Given the description of an element on the screen output the (x, y) to click on. 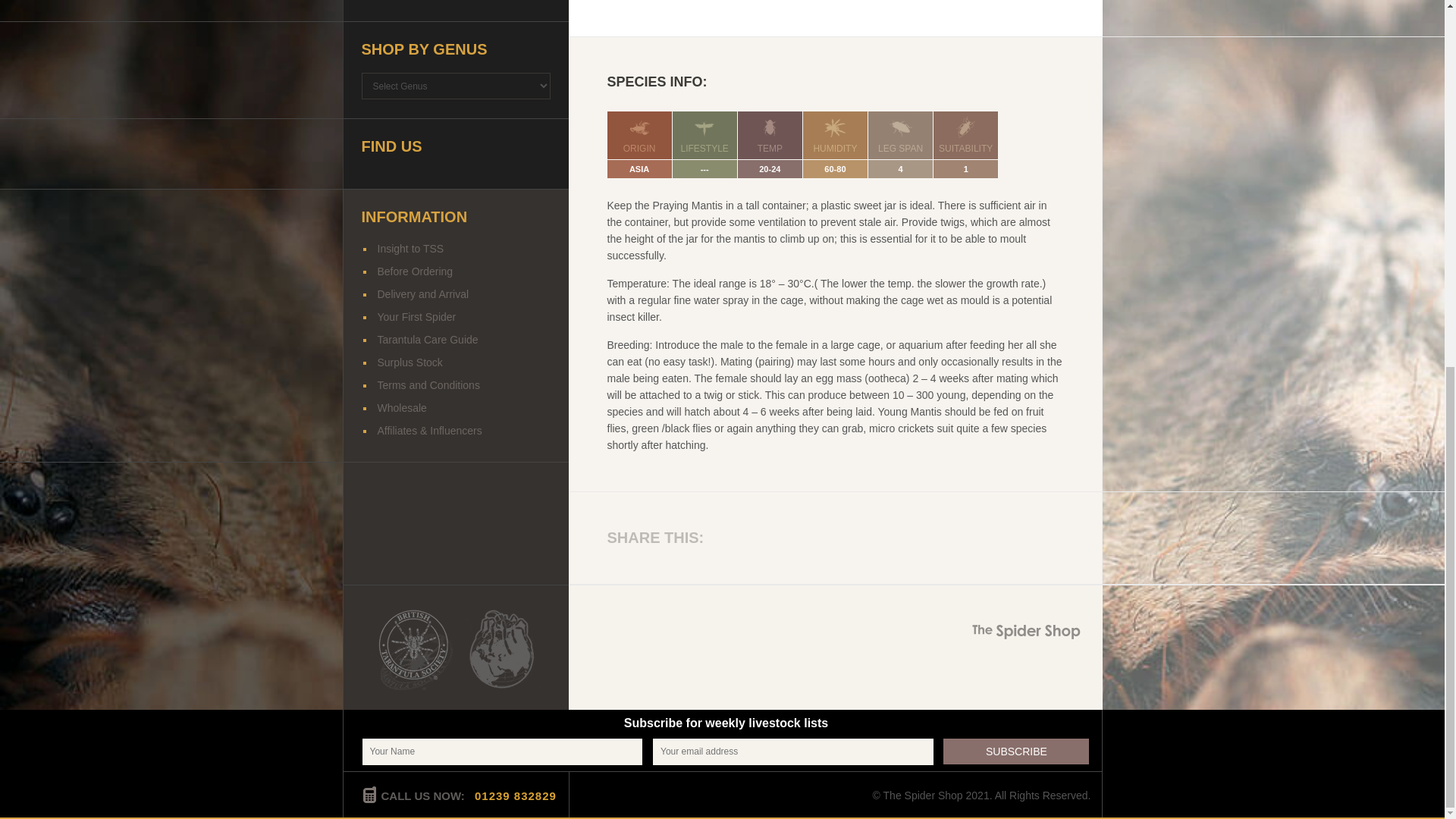
Subscribe (1016, 751)
